Given the description of an element on the screen output the (x, y) to click on. 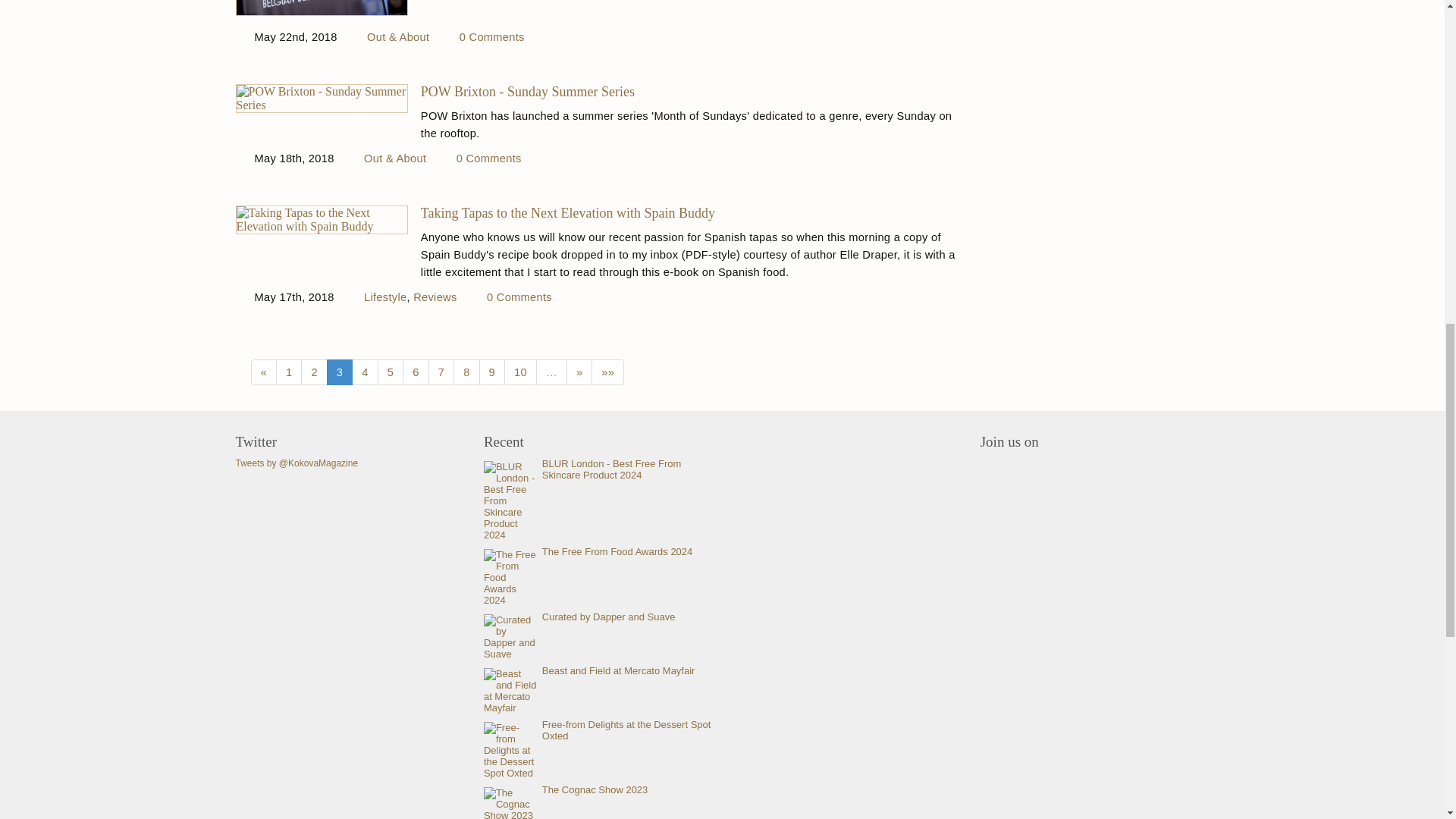
0 Comments (489, 157)
POW Brixton - Sunday Summer Series (691, 91)
0 Comments (518, 297)
Taking Tapas to the Next Elevation with Spain Buddy (691, 212)
Reviews (435, 297)
0 Comments (492, 36)
Lifestyle (385, 297)
